Given the description of an element on the screen output the (x, y) to click on. 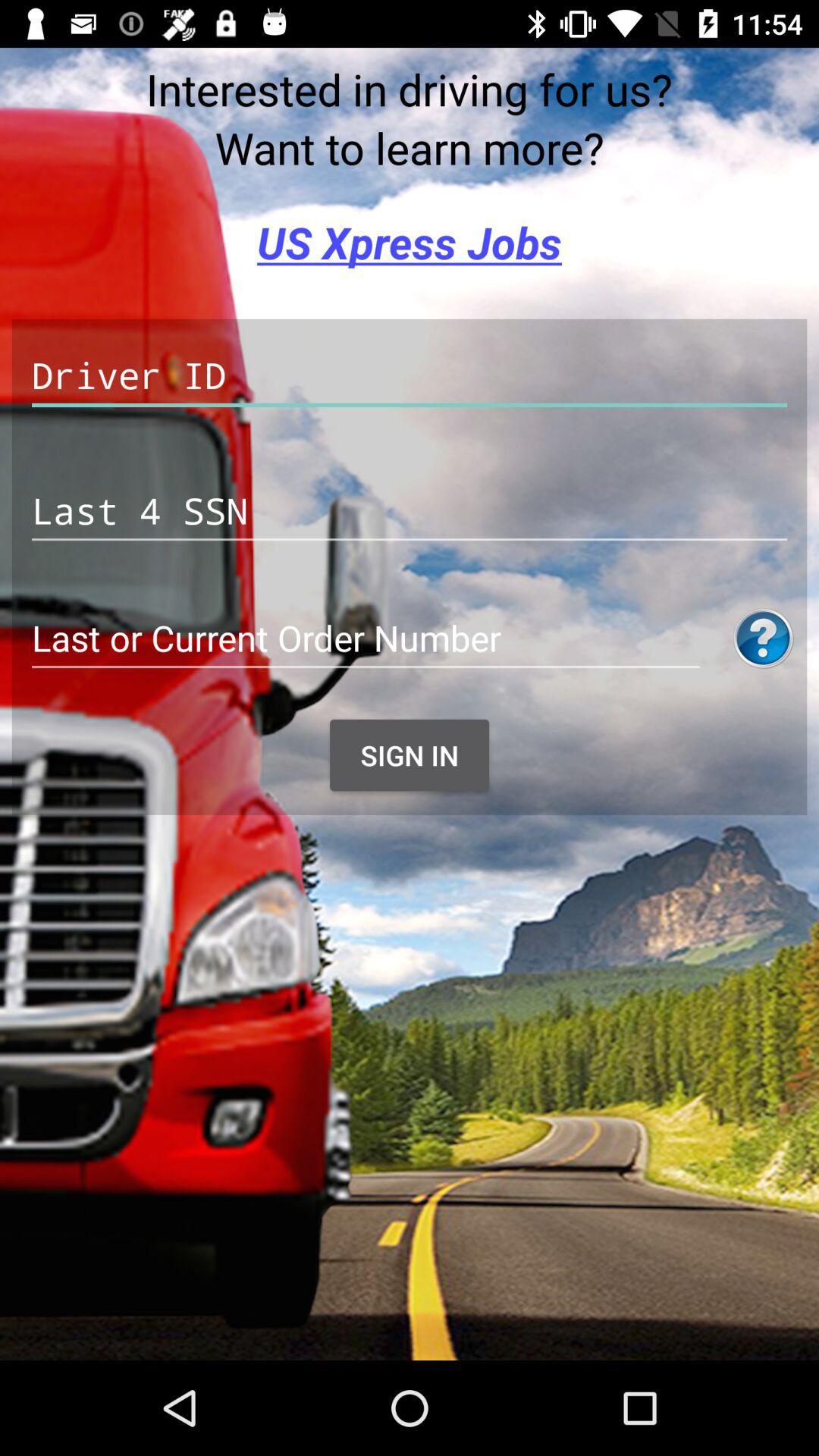
give ssn number (409, 511)
